Given the description of an element on the screen output the (x, y) to click on. 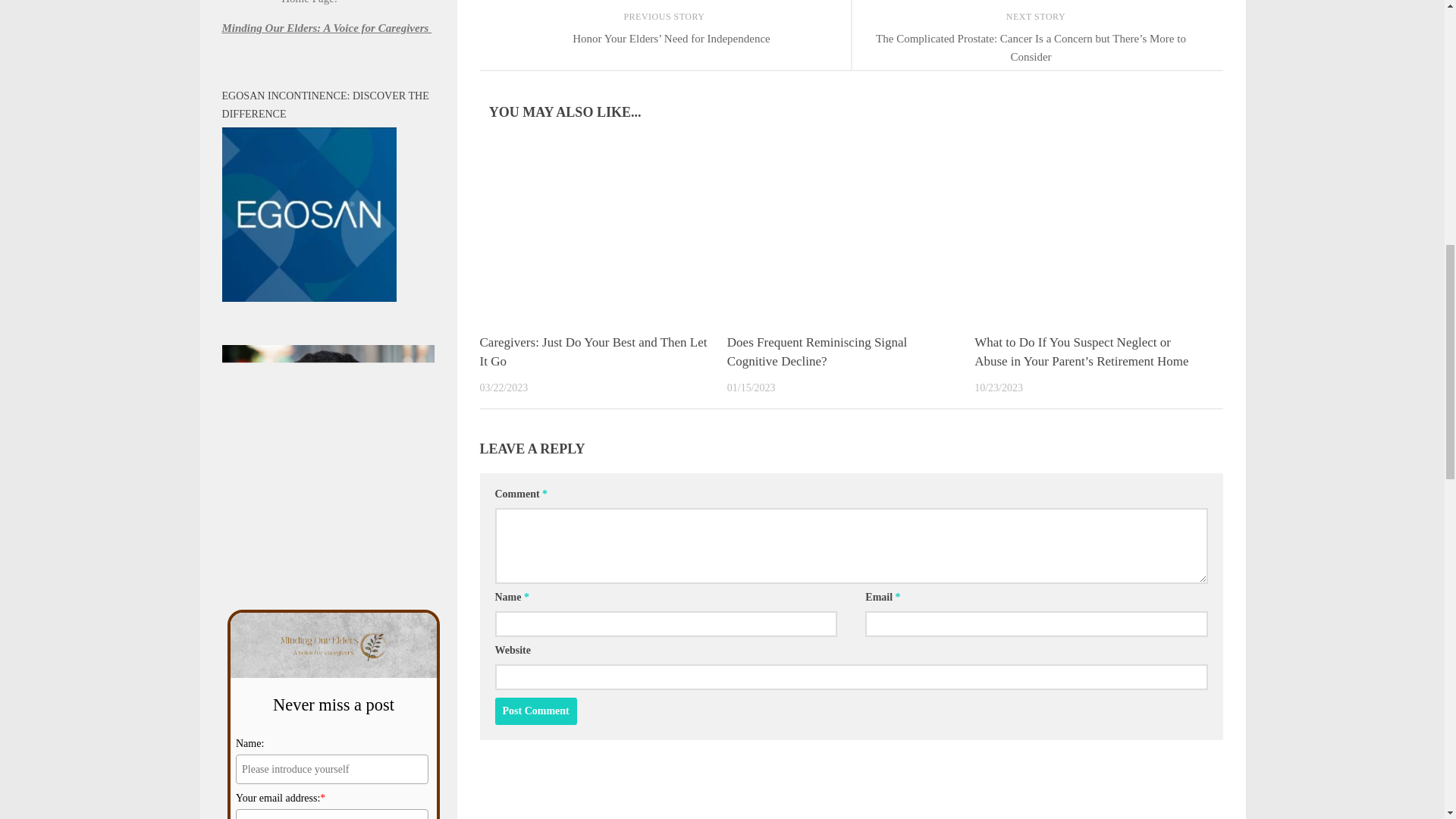
Post Comment (535, 710)
Please introduce yourself (331, 769)
Caregivers: Just Do Your Best and Then Let It Go (592, 351)
Post Comment (535, 710)
Egosan Incontinence: Discover the Difference (308, 214)
How can we reach you? (331, 814)
Does Frequent Reminiscing Signal Cognitive Decline? (816, 351)
